Given the description of an element on the screen output the (x, y) to click on. 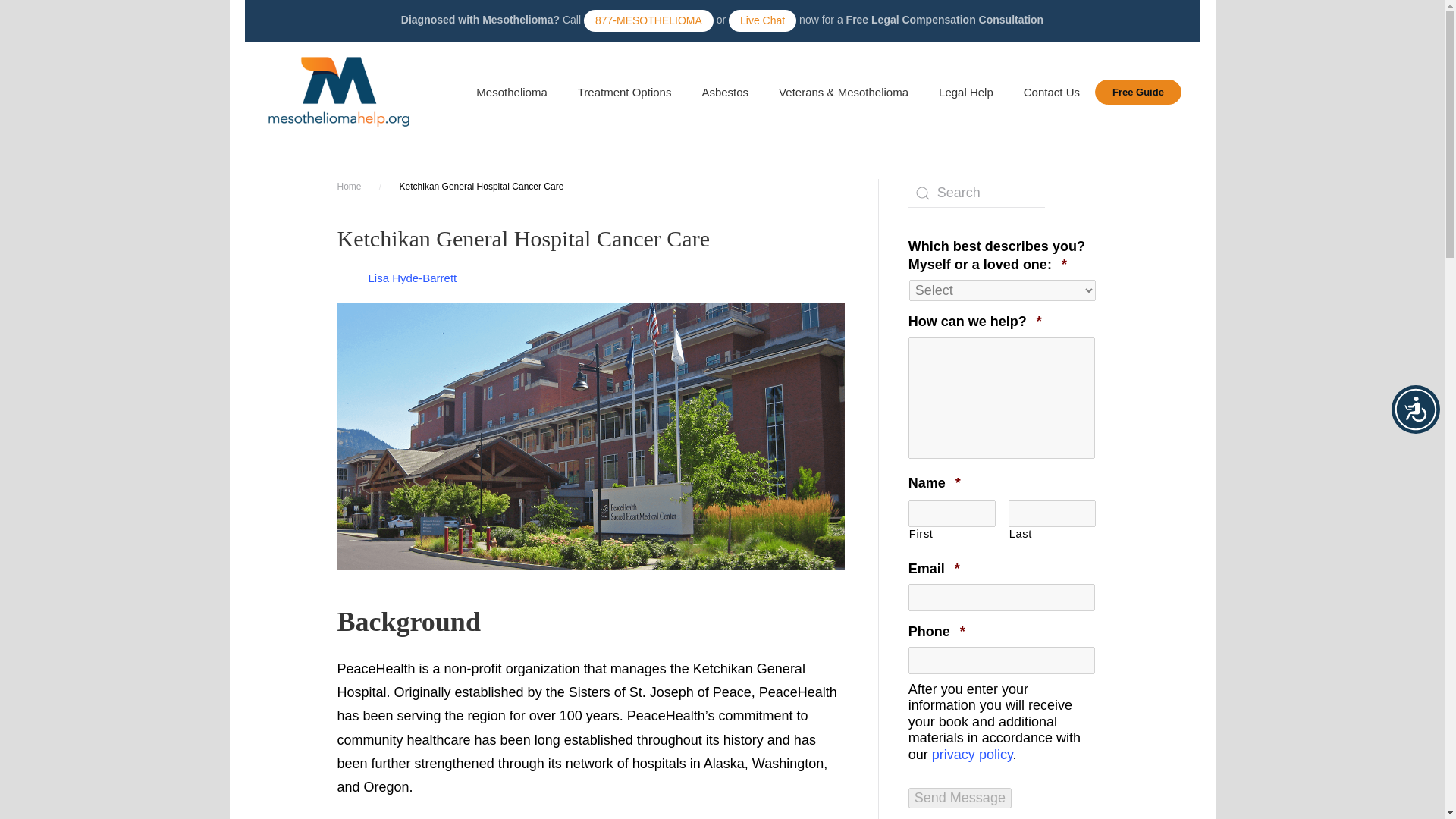
Send Message (959, 798)
Asbestos (723, 92)
Contact Us (1051, 92)
Posts by Lisa Hyde-Barrett (412, 277)
Asbestos (723, 92)
Lisa Hyde-Barrett (412, 277)
Accessibility Menu (1415, 409)
Legal Help (966, 92)
Treatment Options (624, 92)
privacy policy (972, 754)
